Given the description of an element on the screen output the (x, y) to click on. 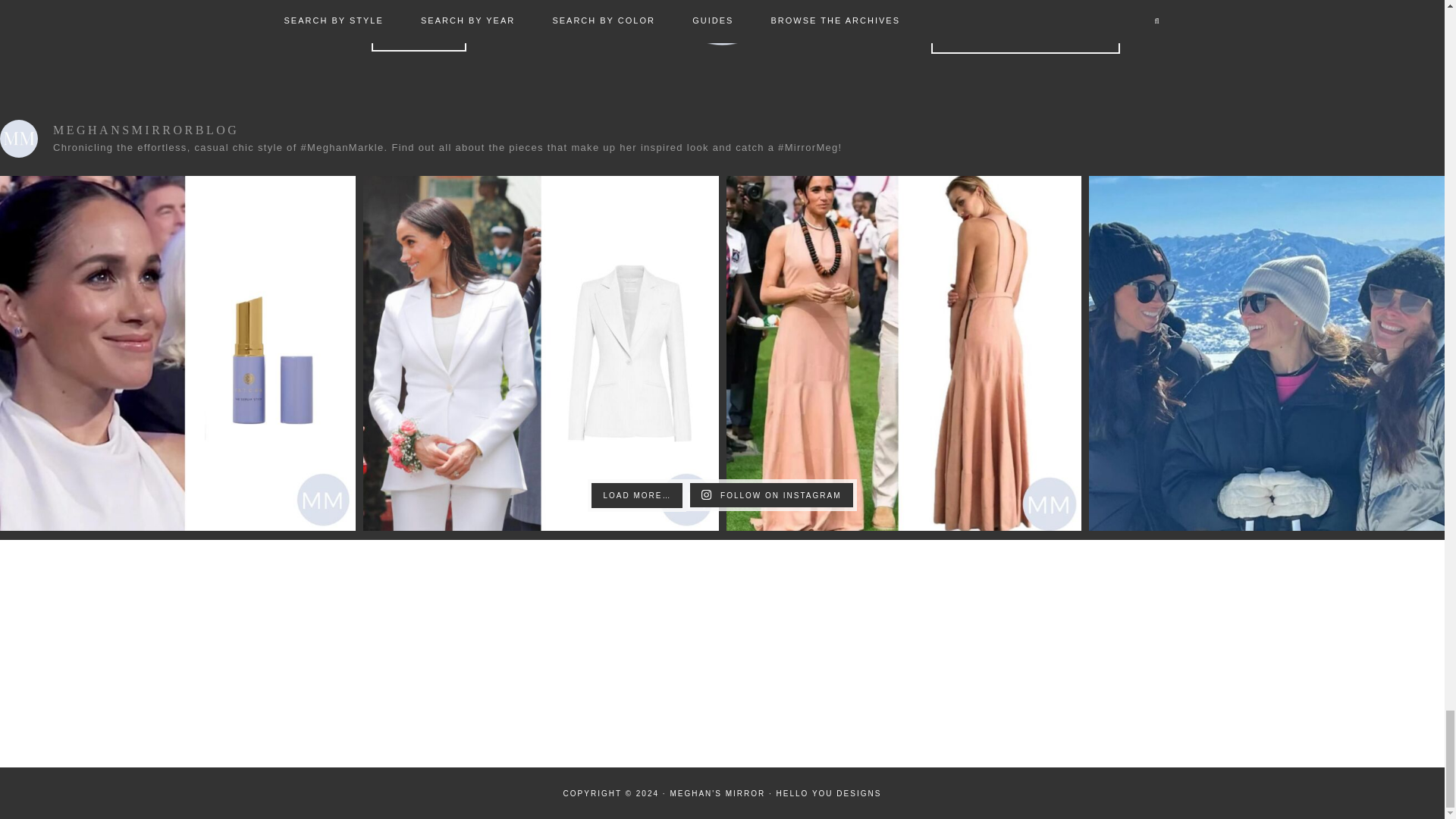
Go (1024, 40)
